Given the description of an element on the screen output the (x, y) to click on. 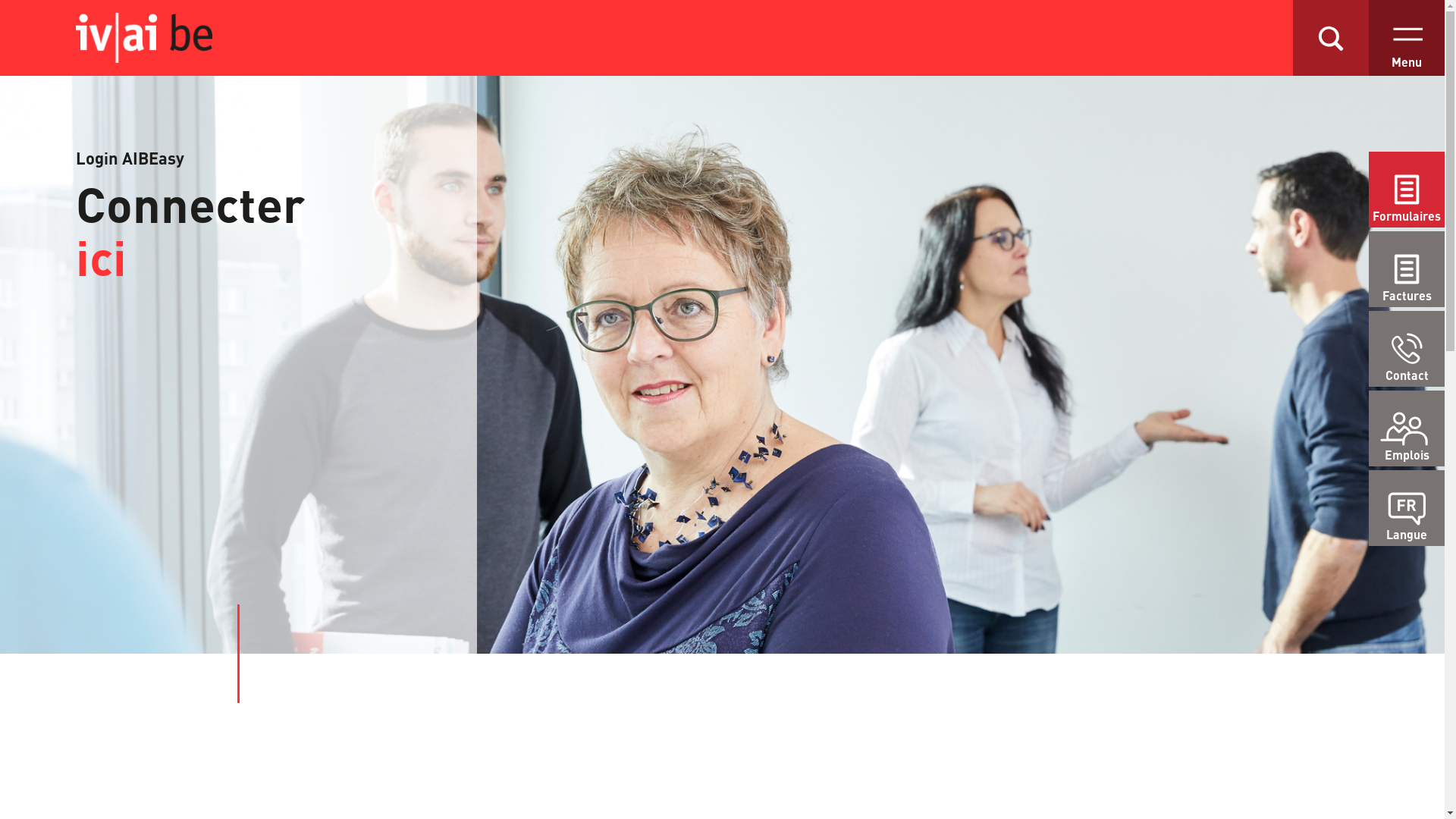
Emplois Element type: text (1406, 428)
Factures Element type: text (1406, 269)
Langue Element type: text (1406, 508)
Formulaires Element type: text (1406, 189)
Menu Element type: text (1406, 37)
Contact Element type: text (1406, 348)
